Given the description of an element on the screen output the (x, y) to click on. 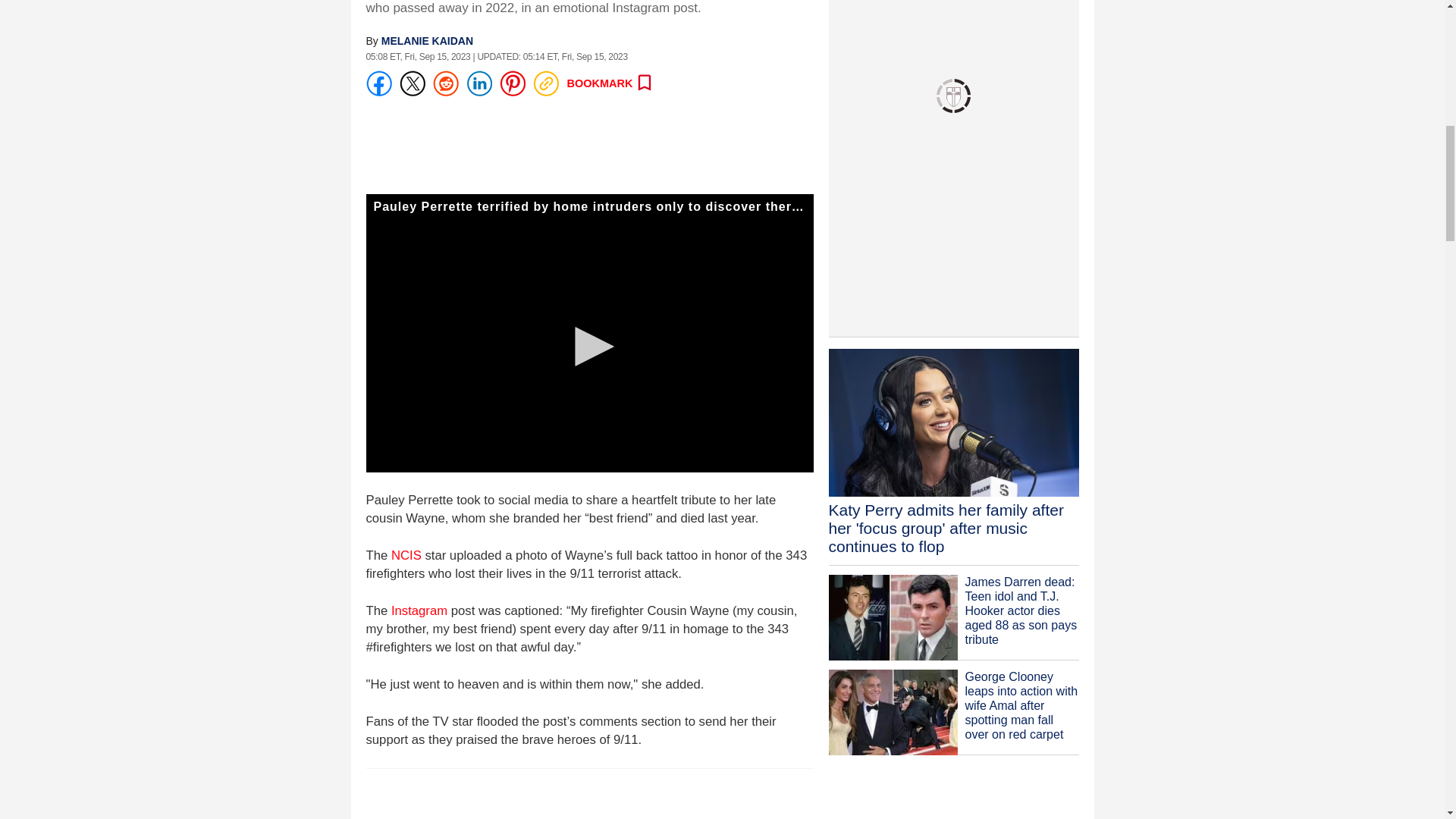
james-darren-dead-teen-idol-t-j-hooker-dead (892, 617)
Instagram (418, 610)
Copy link (544, 83)
Share on LinkedIn (478, 83)
NCIS (406, 554)
george-clooney-wife-amal-fall-over-venice-wolfs-pictures (892, 712)
katy perry family focus group music new venture (953, 431)
